Given the description of an element on the screen output the (x, y) to click on. 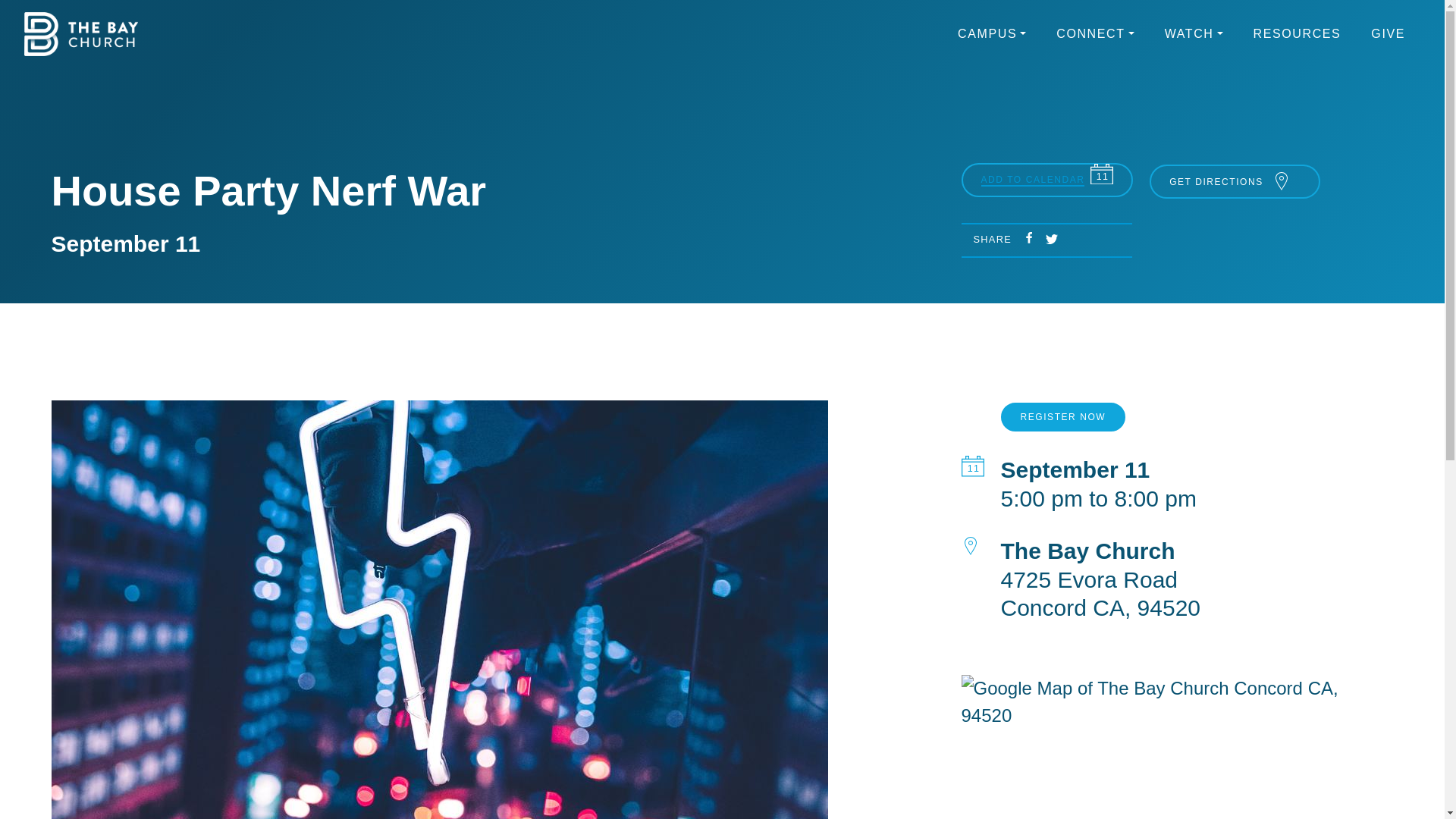
RESOURCES (1297, 33)
11 (1101, 173)
CAMPUS (992, 33)
WATCH (1193, 33)
GIVE (1387, 33)
CONNECT (1094, 33)
11 (972, 465)
